Given the description of an element on the screen output the (x, y) to click on. 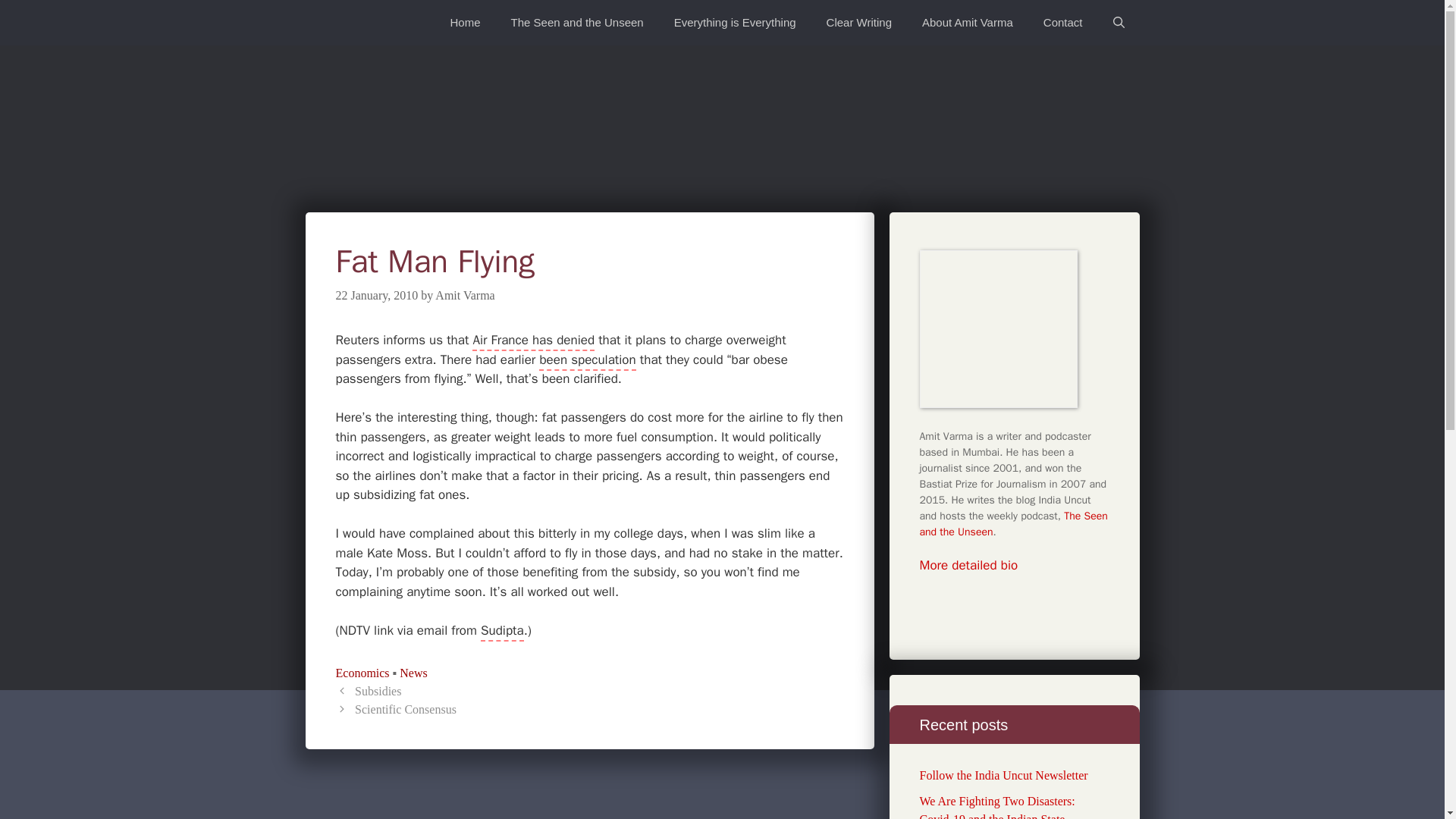
been speculation (586, 361)
Air France to bar obese passengers? (586, 361)
Everything is Everything (734, 22)
The Seen and the Unseen (1012, 523)
Scientific Consensus (406, 708)
We Are Fighting Two Disasters: Covid-19 and the Indian State (996, 806)
Economics (361, 672)
Home (465, 22)
About Amit Varma (967, 22)
Sudipta's Life (502, 631)
The Seen and the Unseen (577, 22)
Subsidies (378, 690)
News (412, 672)
Airline denies plans for obesity surcharge (532, 341)
Clear Writing (858, 22)
